Given the description of an element on the screen output the (x, y) to click on. 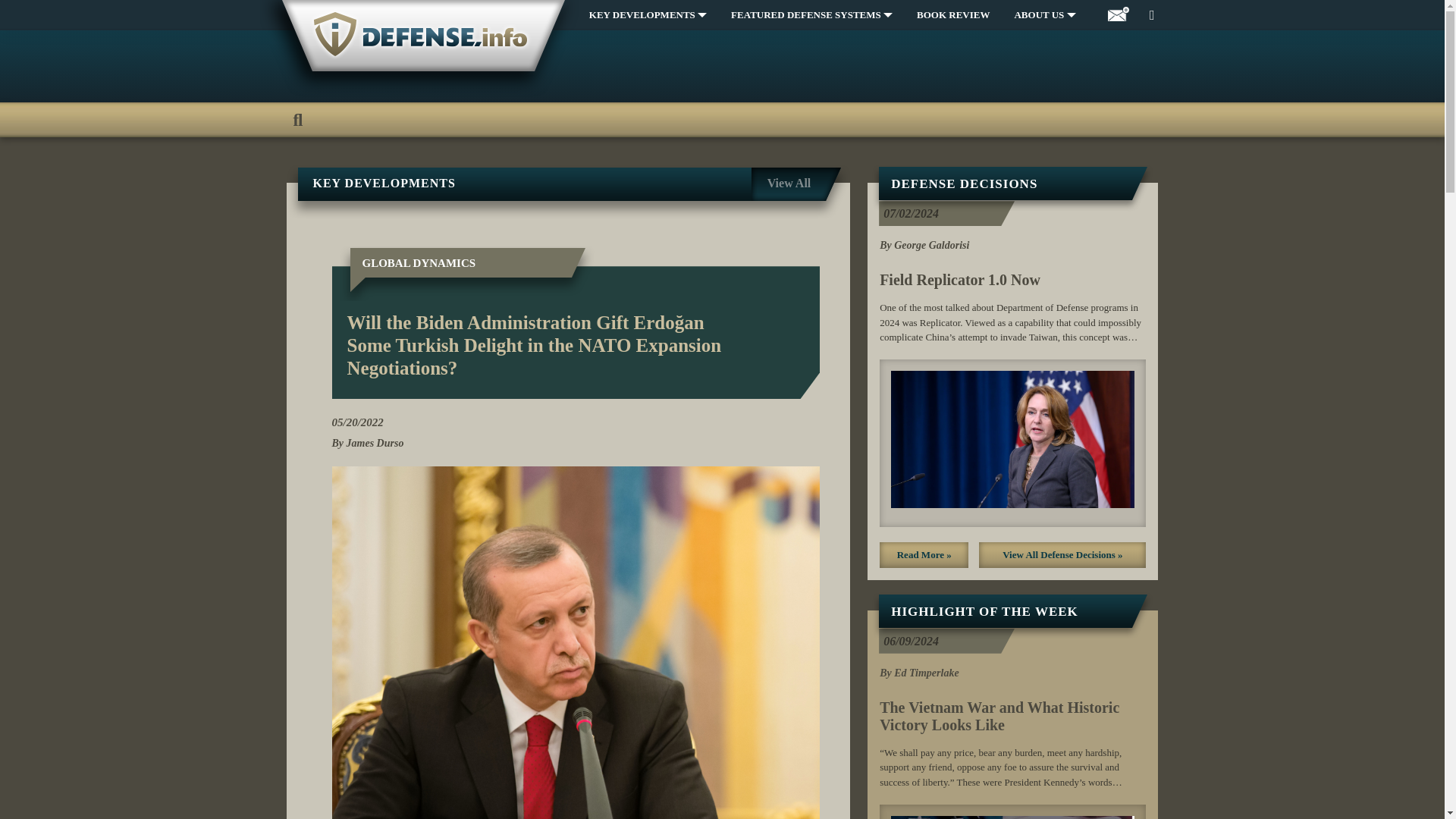
Featured Defense Systems (811, 15)
KEY DEVELOPMENTS (647, 15)
FEATURED DEFENSE SYSTEMS (811, 15)
ABOUT US (1044, 15)
Key Developments (647, 15)
BOOK REVIEW (952, 15)
